Given the description of an element on the screen output the (x, y) to click on. 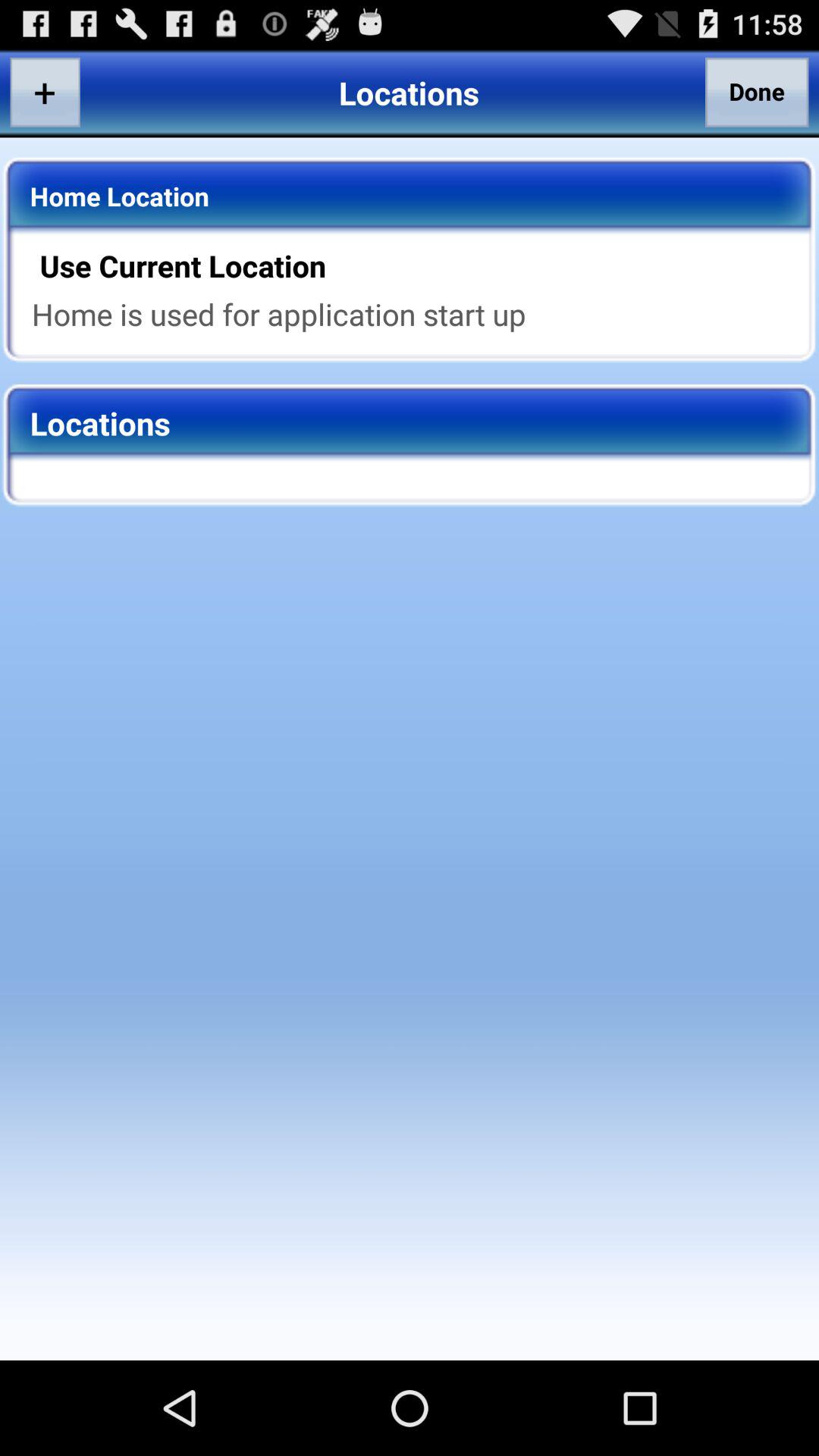
flip until + item (45, 92)
